Given the description of an element on the screen output the (x, y) to click on. 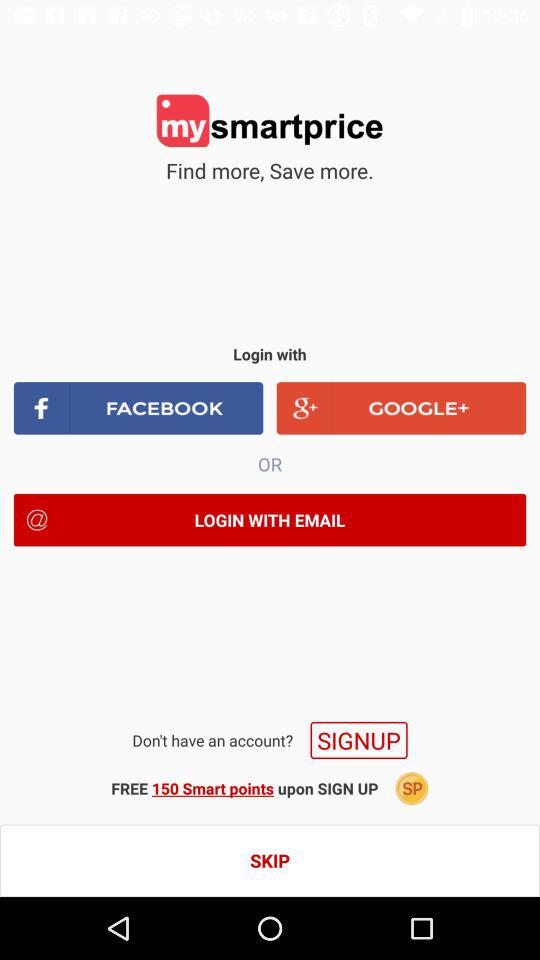
press the icon below the signup icon (244, 788)
